Given the description of an element on the screen output the (x, y) to click on. 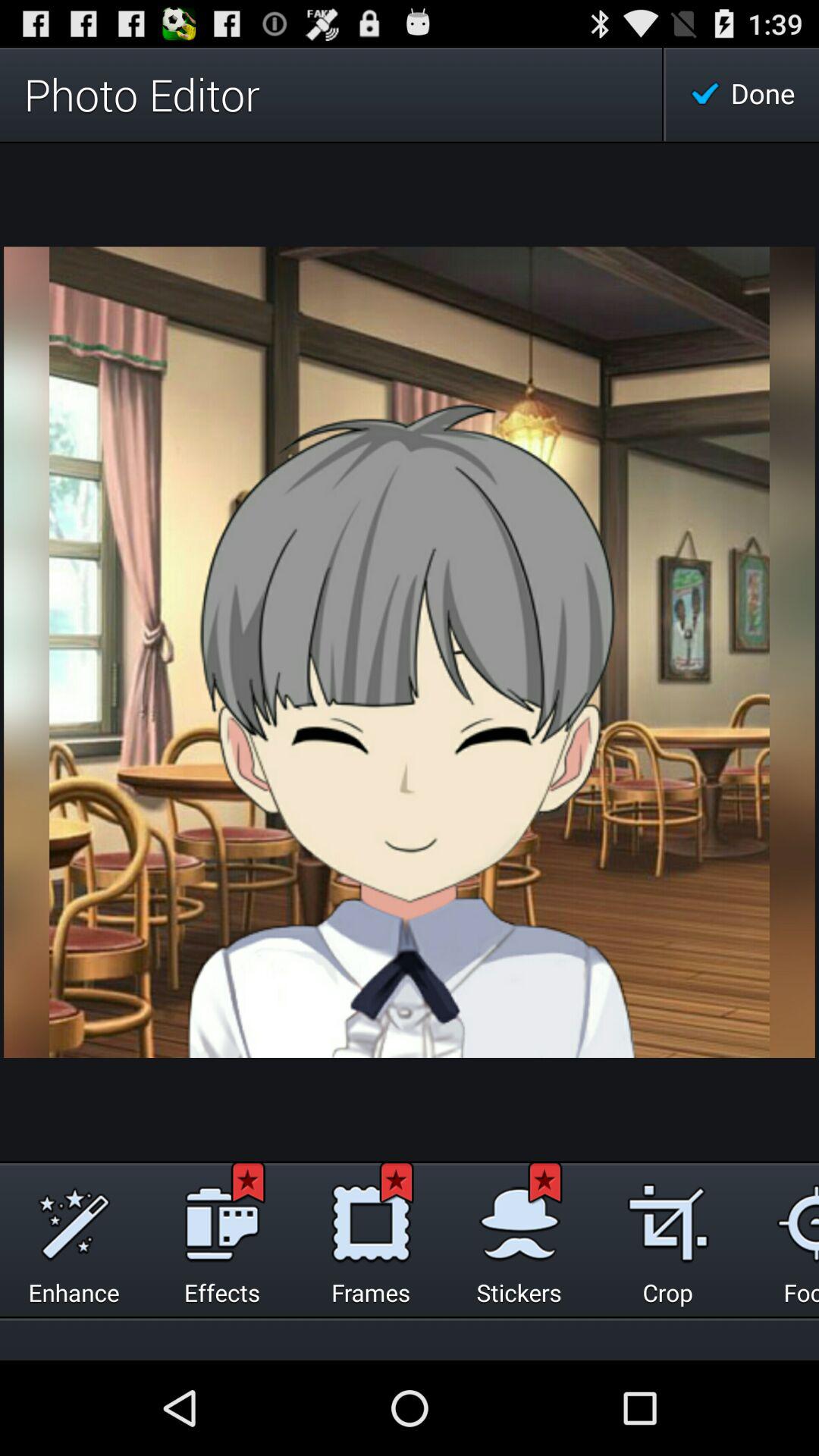
select the icon above enhance (73, 1219)
click on text next to photo editor (742, 93)
select the symbol above frames (370, 1219)
the selected option is beside to stickers (667, 1219)
click on the image which is below the photo editor (409, 652)
